Given the description of an element on the screen output the (x, y) to click on. 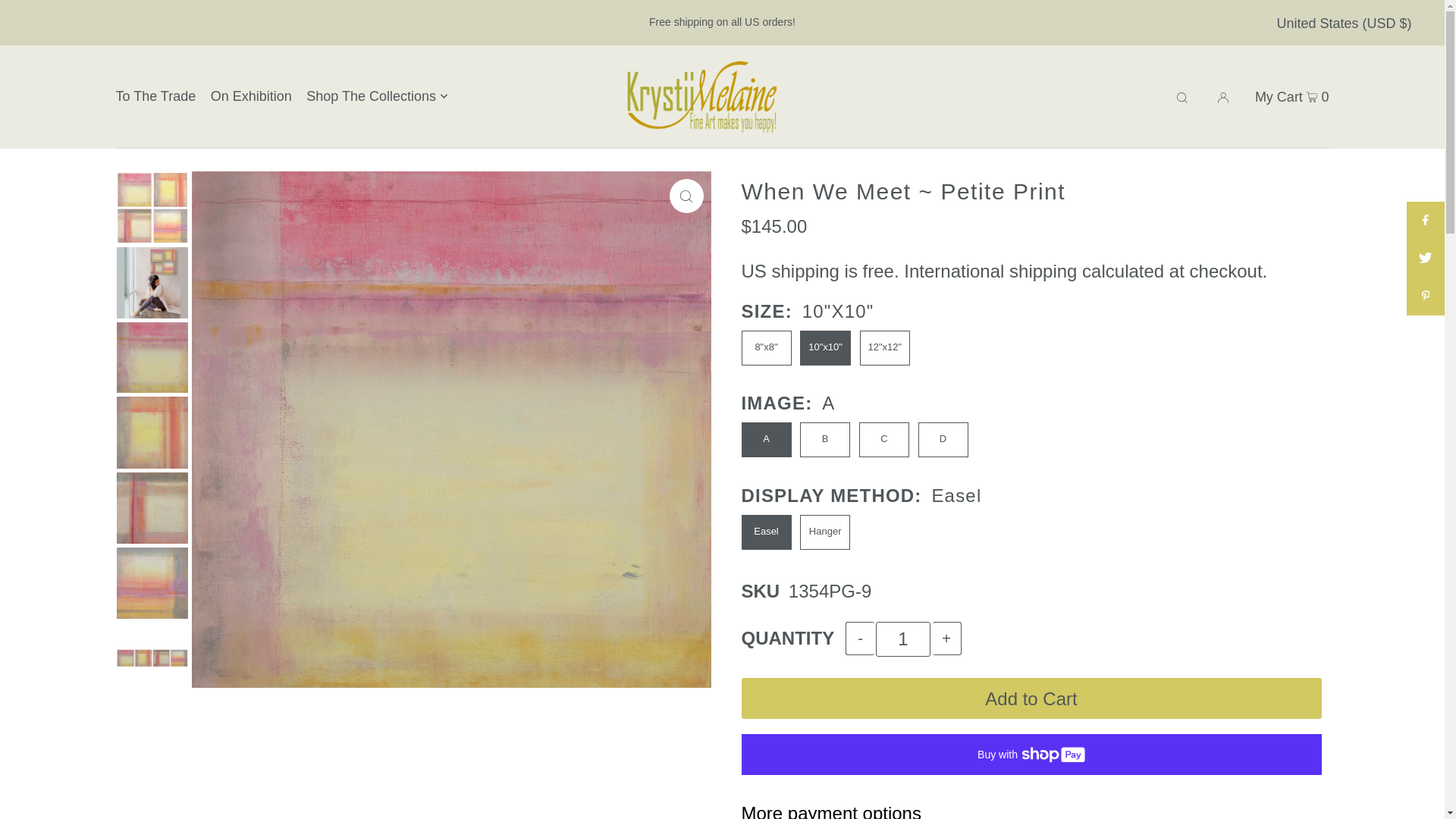
1 (903, 638)
Add to Cart (1031, 698)
